Given the description of an element on the screen output the (x, y) to click on. 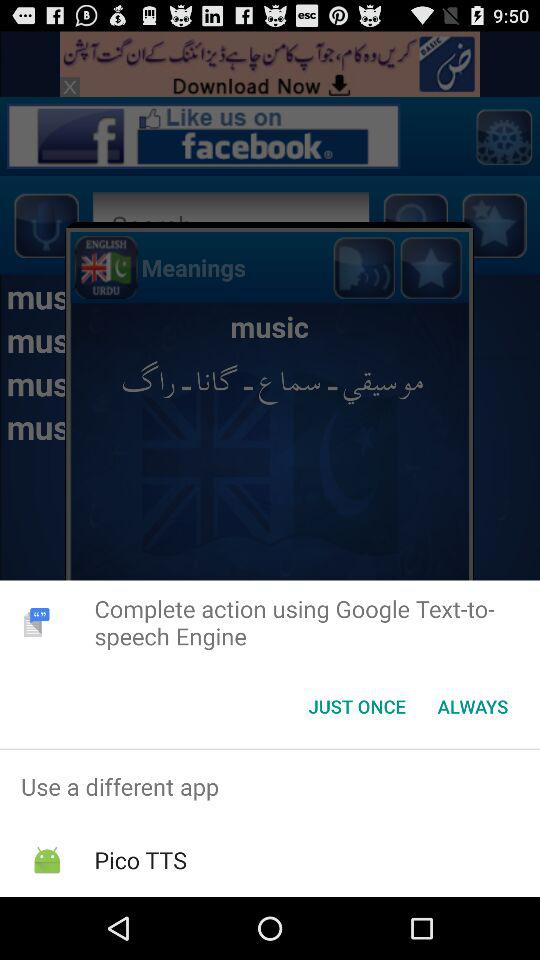
tap just once item (356, 706)
